Given the description of an element on the screen output the (x, y) to click on. 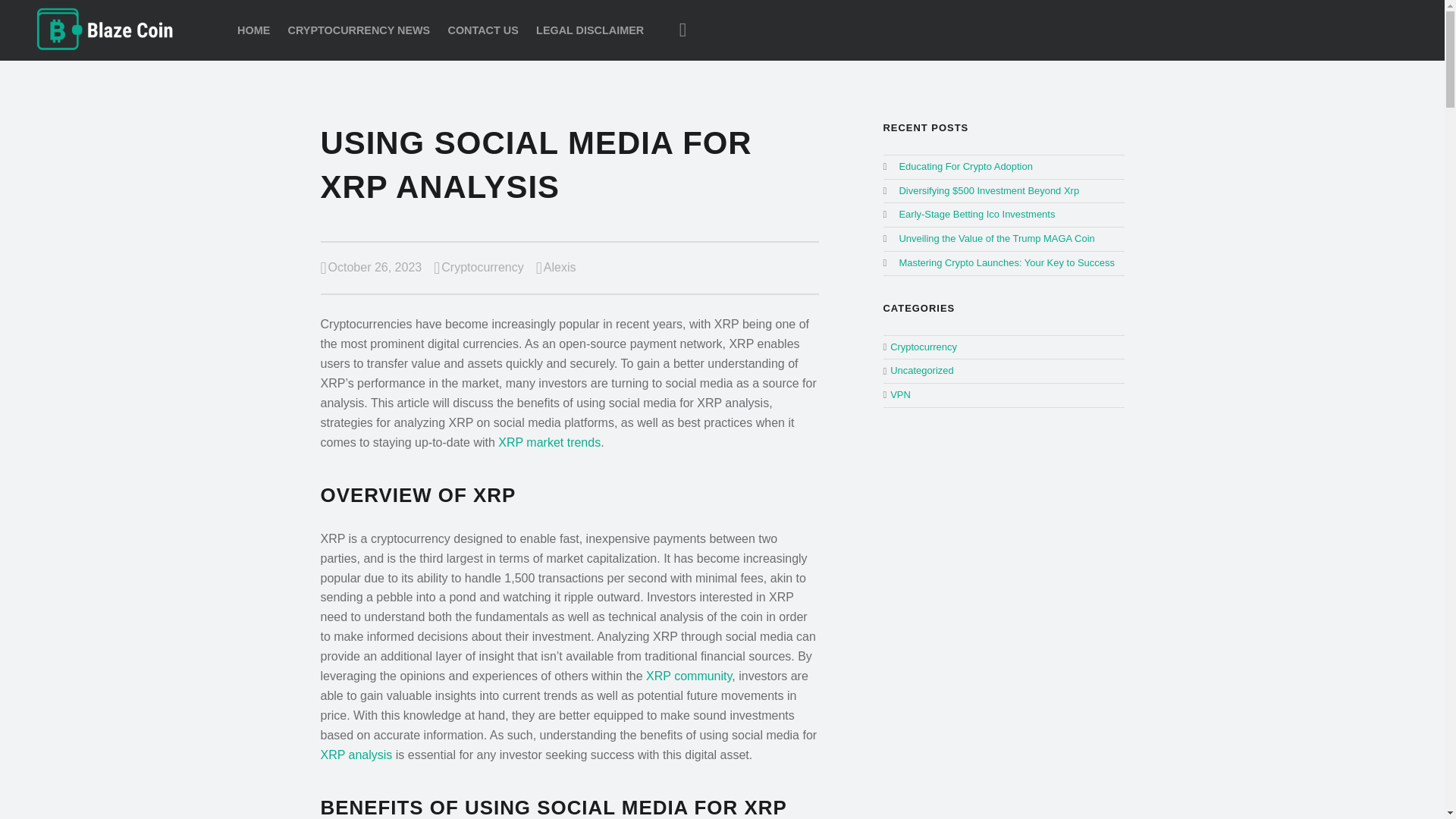
Unveiling the Value of the Trump MAGA Coin (996, 238)
LEGAL DISCLAIMER (589, 30)
Mastering Crypto Launches: Your Key to Success (1005, 262)
Cryptocurrency (922, 346)
XRP market trends (548, 441)
CRYPTOCURRENCY NEWS (359, 30)
Cryptocurrency (481, 267)
XRP community (689, 675)
XRP analysis (355, 754)
CONTACT US (483, 30)
XRP analysis (355, 754)
Early-Stage Betting Ico Investments (976, 214)
Uncategorized (921, 369)
BLAZE COIN (105, 28)
Alexis (559, 267)
